Given the description of an element on the screen output the (x, y) to click on. 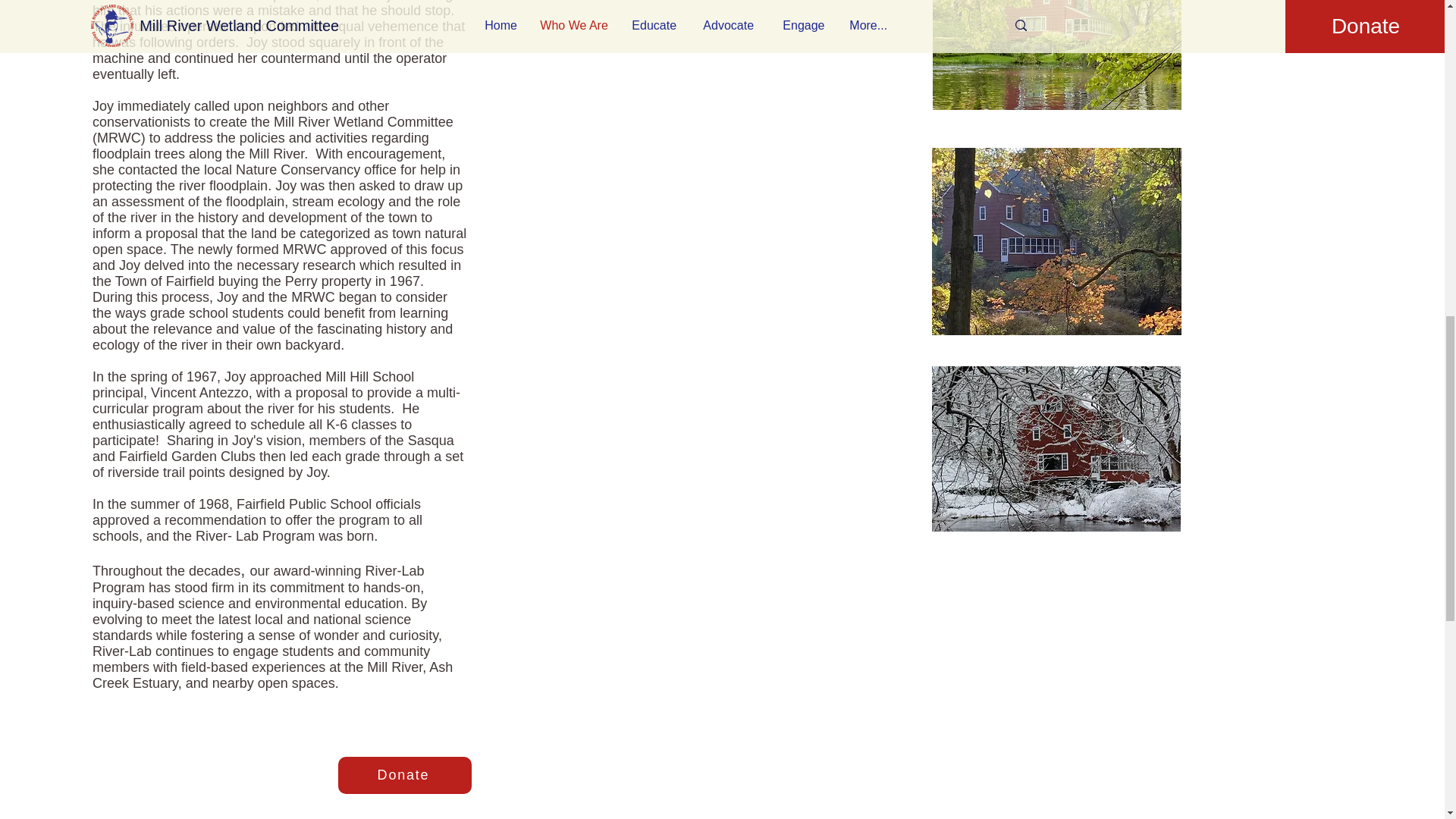
Donate (404, 774)
